Given the description of an element on the screen output the (x, y) to click on. 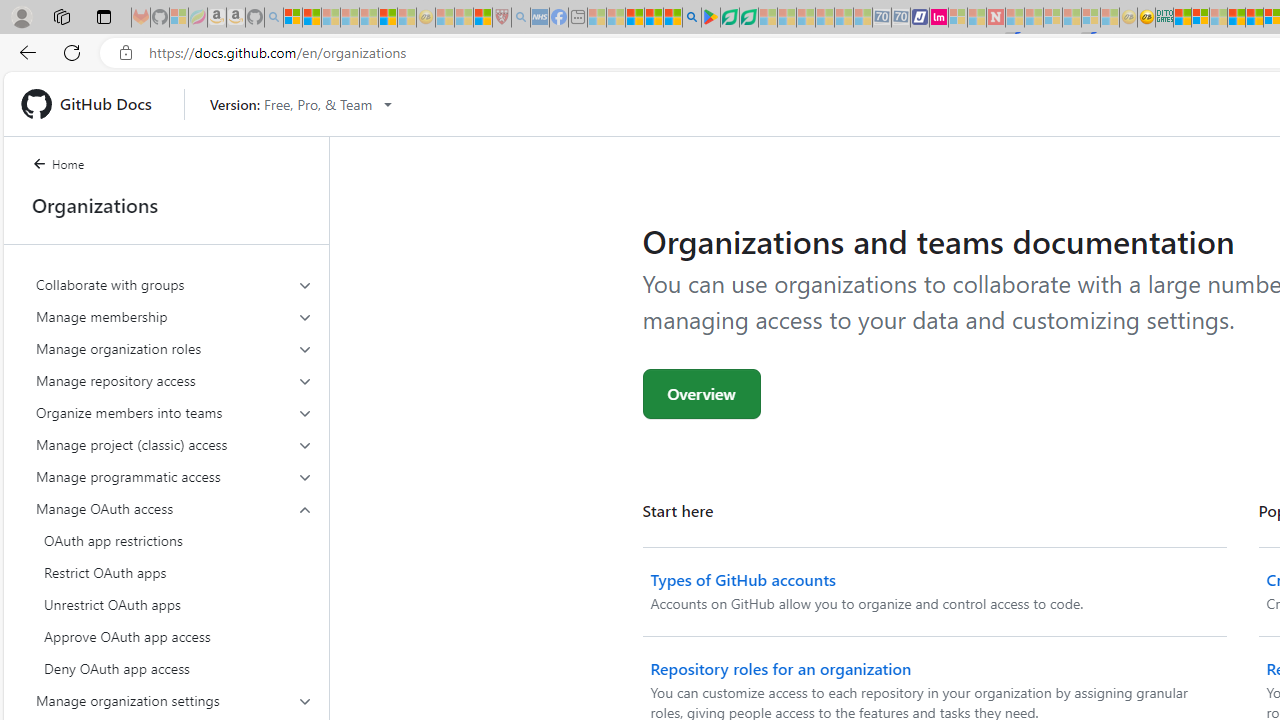
Deny OAuth app access (174, 668)
New Report Confirms 2023 Was Record Hot | Watch - Sleeping (368, 17)
Manage OAuth access (174, 508)
google - Search (692, 17)
Manage repository access (174, 380)
Manage organization settings (174, 700)
Manage organization roles (174, 348)
Cheap Hotels - Save70.com - Sleeping (901, 17)
Organize members into teams (174, 412)
Unrestrict OAuth apps (174, 604)
